Given the description of an element on the screen output the (x, y) to click on. 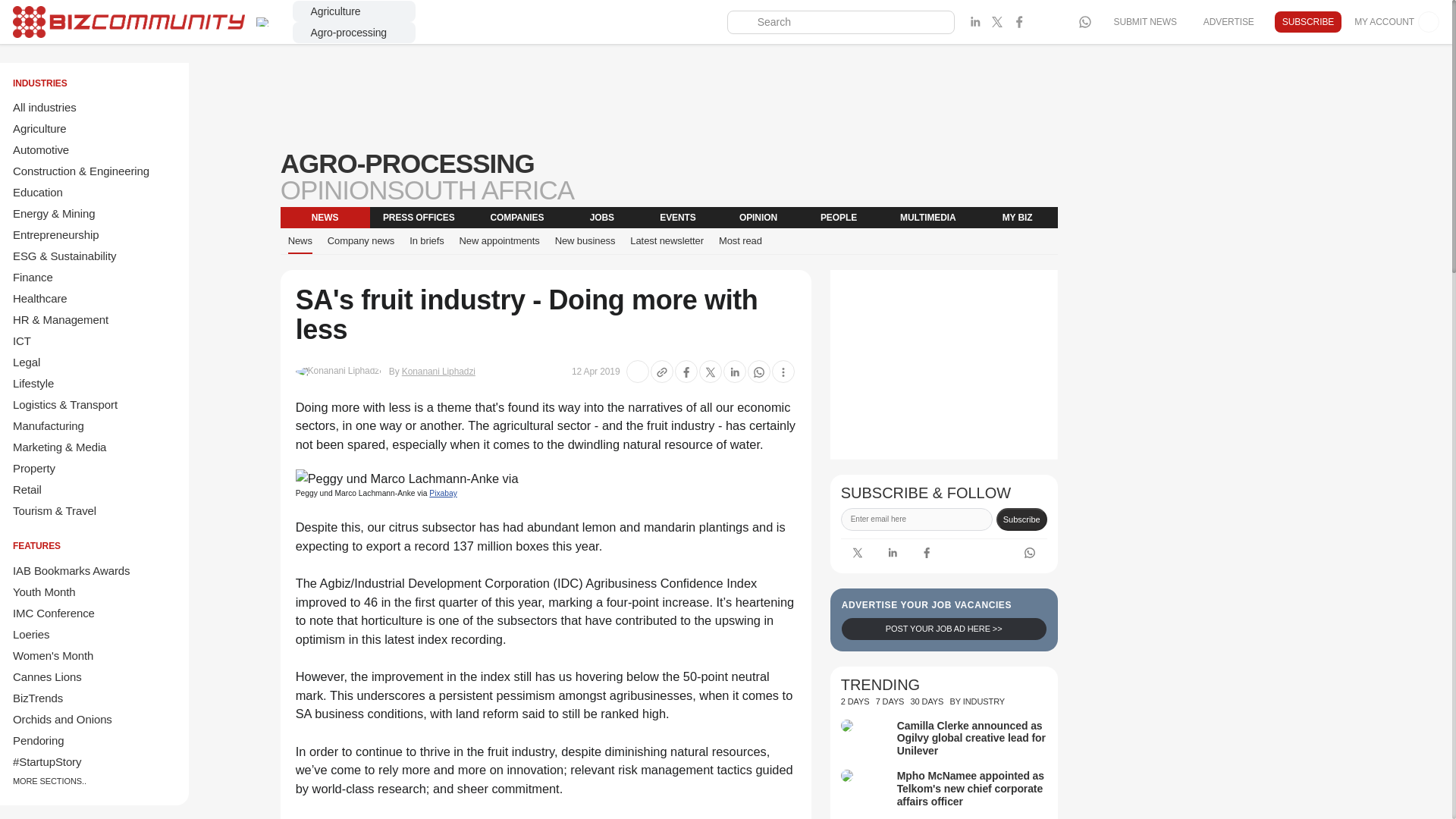
Agro-processing (353, 32)
MY ACCOUNT (1396, 21)
Bizcommunity youtube (1062, 22)
Agriculture (353, 11)
Bizcommunity facebook (926, 552)
Bizcommunity facebook (1018, 22)
Bizcommunity instagram (1040, 22)
Bizcommunity facebook (1084, 22)
ADVERTISE (1228, 21)
Bizcommunity linked (892, 552)
Bizcommunity linked (975, 22)
SUBMIT NEWS (1144, 21)
SUBSCRIBE (1307, 21)
